Given the description of an element on the screen output the (x, y) to click on. 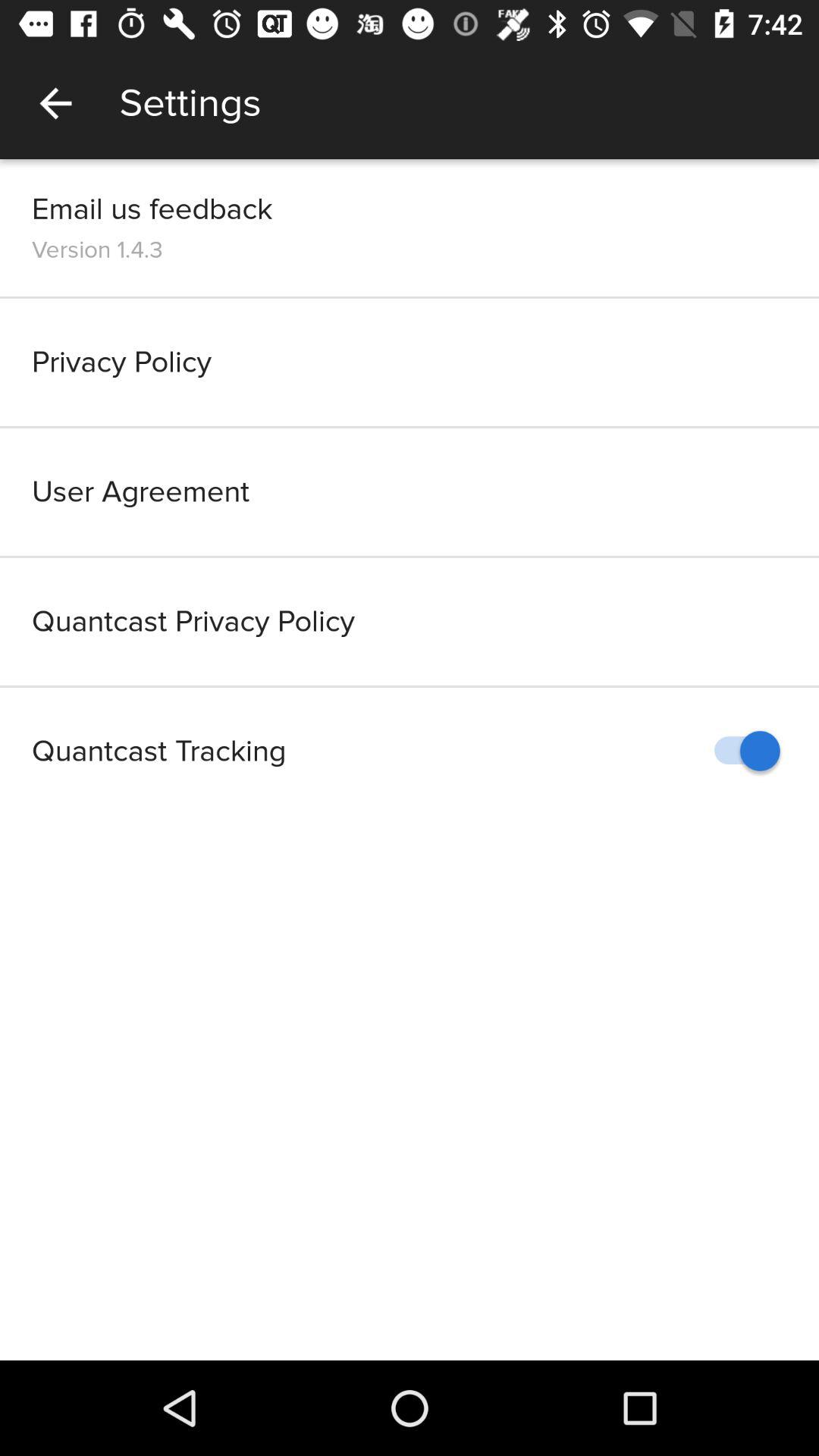
swipe until email us feedback icon (151, 209)
